Given the description of an element on the screen output the (x, y) to click on. 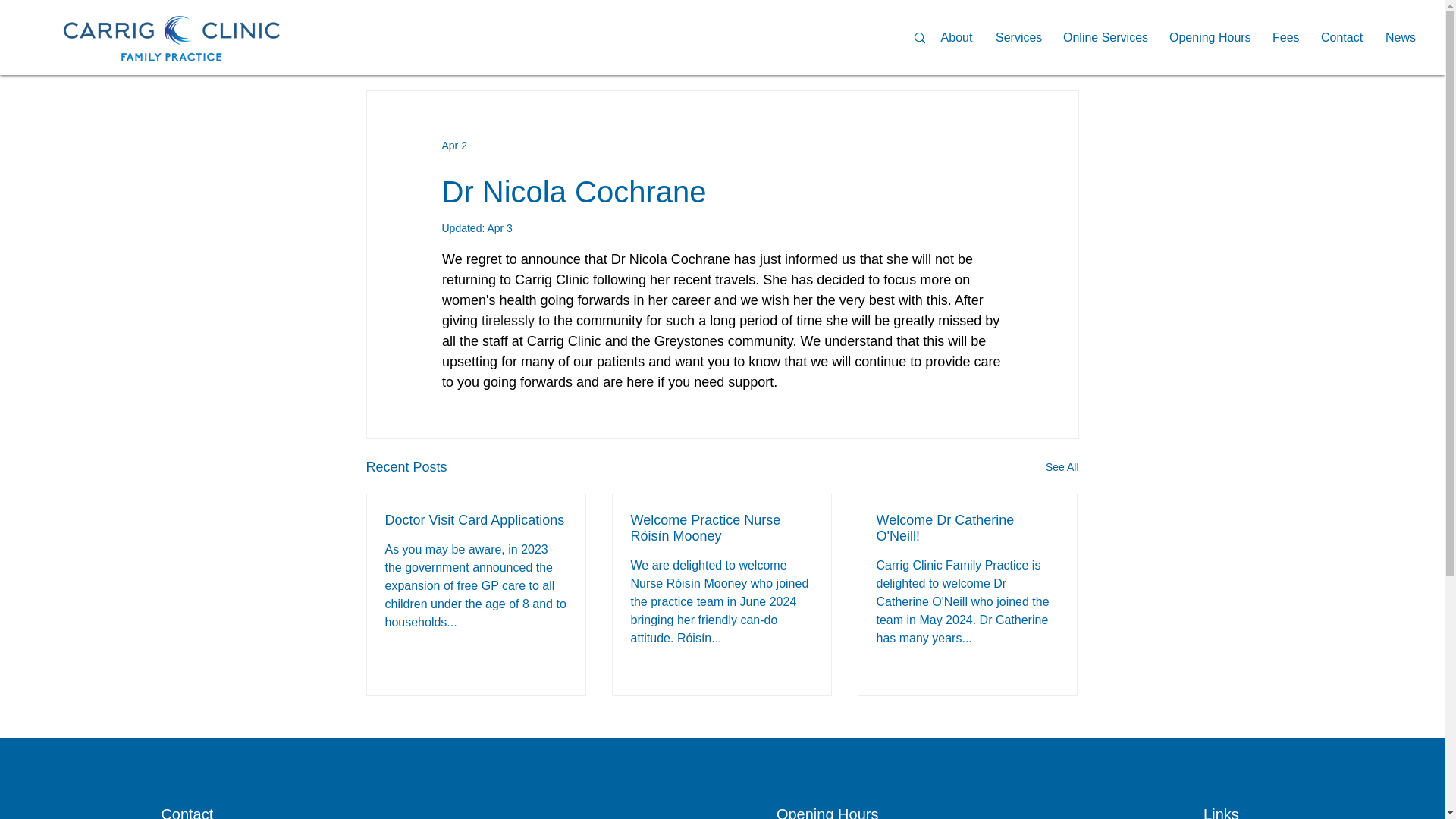
Doctor Visit Card Applications (476, 520)
Welcome Dr Catherine O'Neill! (967, 528)
News (1400, 37)
See All (1061, 467)
Services (1017, 37)
Apr 2 (453, 145)
Online Services (1104, 37)
Contact (1341, 37)
Apr 3 (499, 227)
Fees (1284, 37)
